Given the description of an element on the screen output the (x, y) to click on. 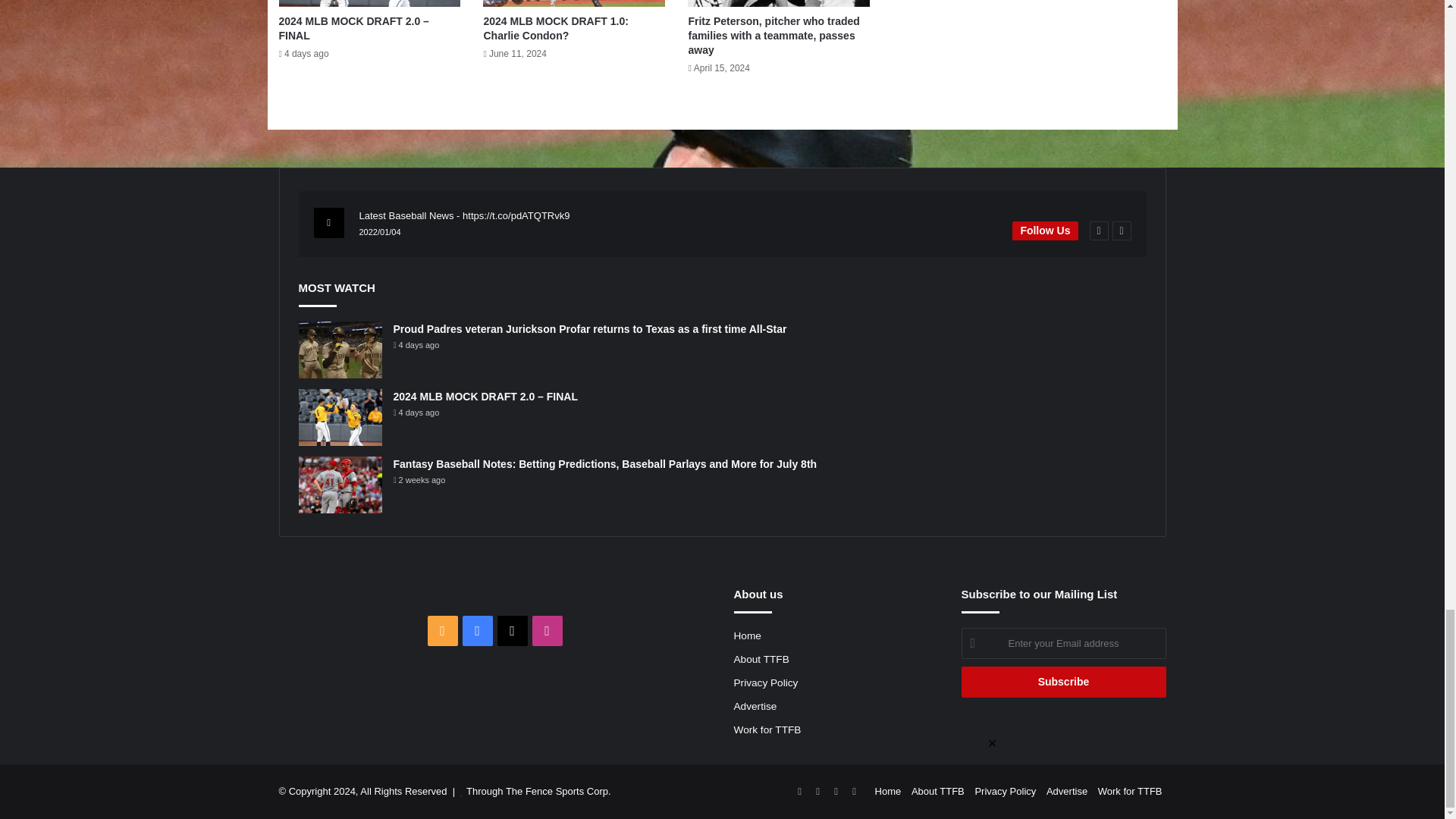
Subscribe (1063, 681)
